Given the description of an element on the screen output the (x, y) to click on. 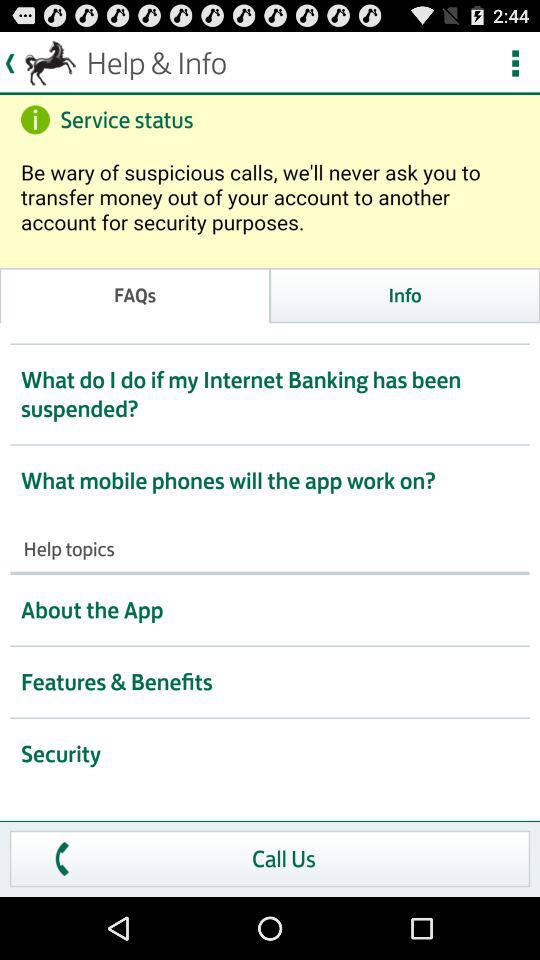
click info (405, 294)
select the icon at top right corner (40, 63)
